Given the description of an element on the screen output the (x, y) to click on. 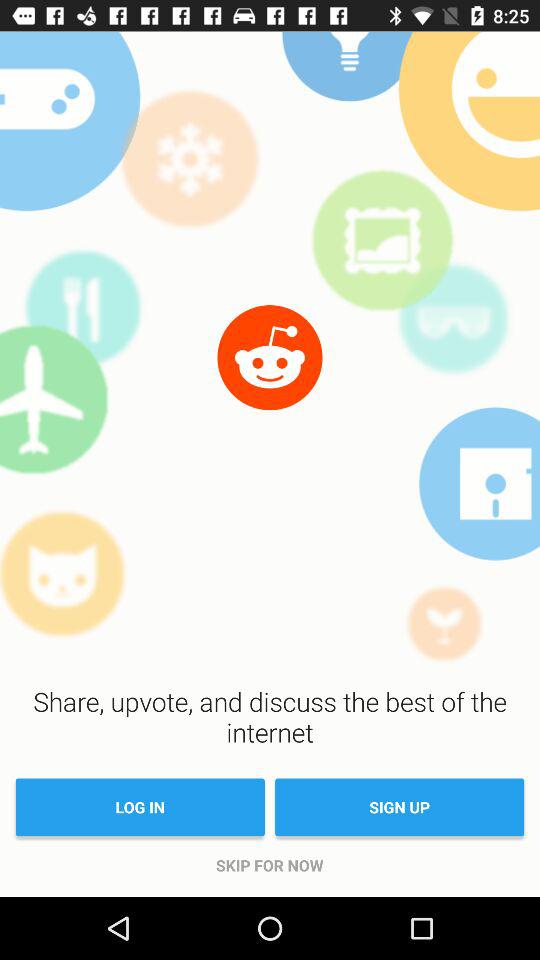
swipe to the log in icon (140, 807)
